Given the description of an element on the screen output the (x, y) to click on. 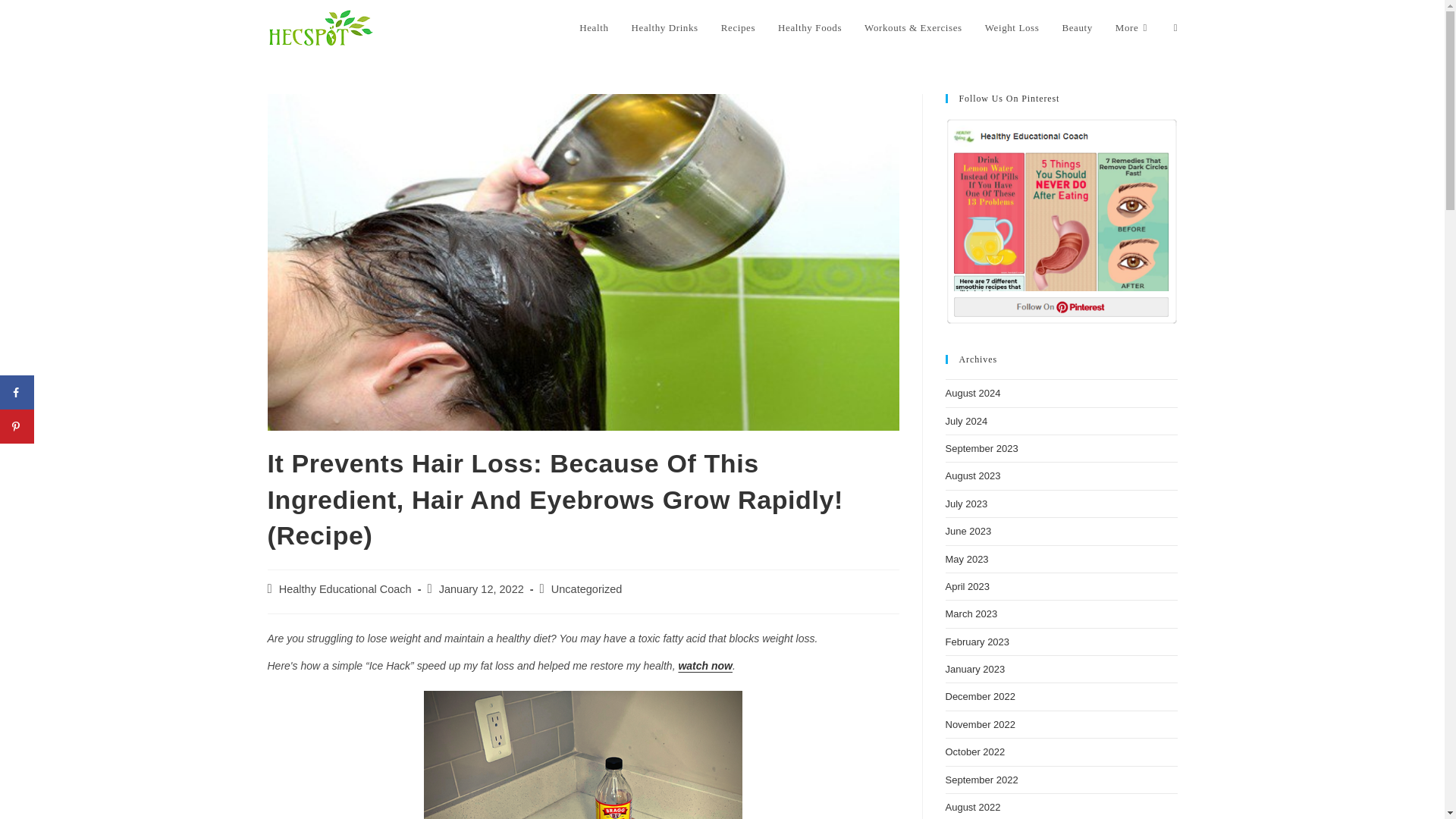
Weight Loss (1012, 28)
Healthy Foods (810, 28)
Uncategorized (587, 589)
Recipes (738, 28)
Healthy Educational Coach (345, 589)
Health (593, 28)
watch now (705, 665)
Healthy Drinks (665, 28)
Save to Pinterest (16, 426)
Beauty (1076, 28)
More (1132, 28)
Share on Facebook (16, 392)
Posts by Healthy Educational Coach (345, 589)
